Given the description of an element on the screen output the (x, y) to click on. 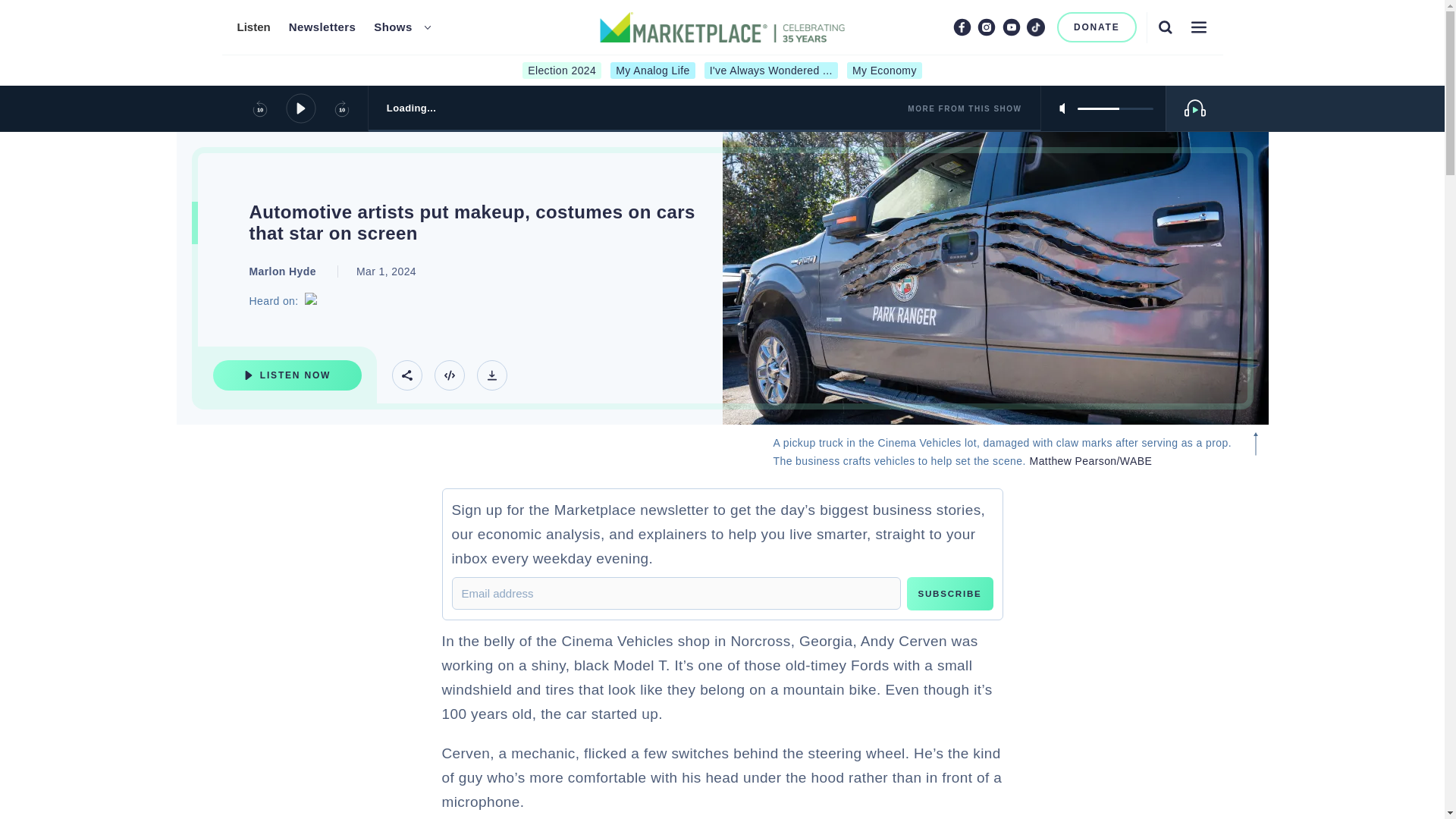
Instagram (985, 27)
Facebook (962, 27)
Listen Now (286, 374)
Listen (252, 26)
TikTok (1035, 27)
DONATE (1097, 27)
Menu (1198, 27)
Search (1164, 27)
Newsletters (322, 27)
volume (1115, 108)
Youtube (1011, 27)
5 (1115, 108)
Shows (393, 26)
Download Track (491, 374)
